Given the description of an element on the screen output the (x, y) to click on. 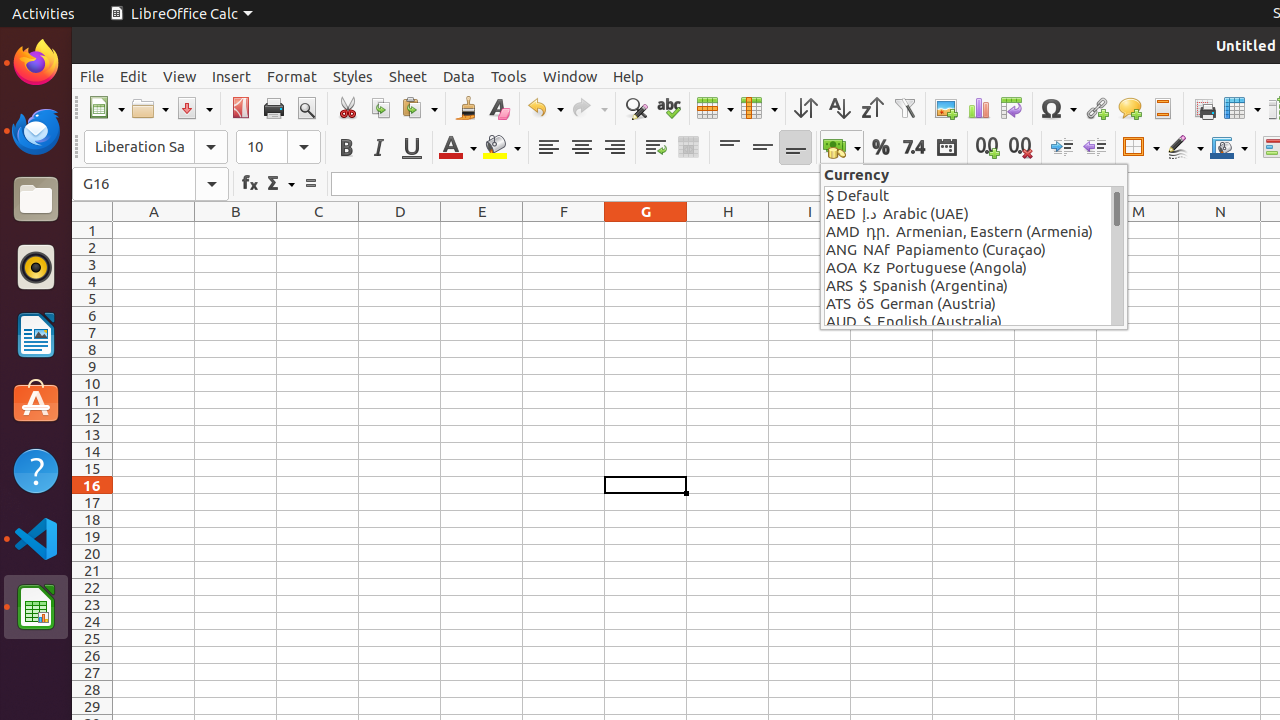
Headers and Footers Element type: push-button (1162, 108)
Merge and Center Cells Element type: push-button (688, 147)
Percent Element type: push-button (880, 147)
Row Element type: push-button (715, 108)
‪ATS‬  ‪öS‬  ‪German (Austria)‬ Element type: list-item (968, 304)
